Given the description of an element on the screen output the (x, y) to click on. 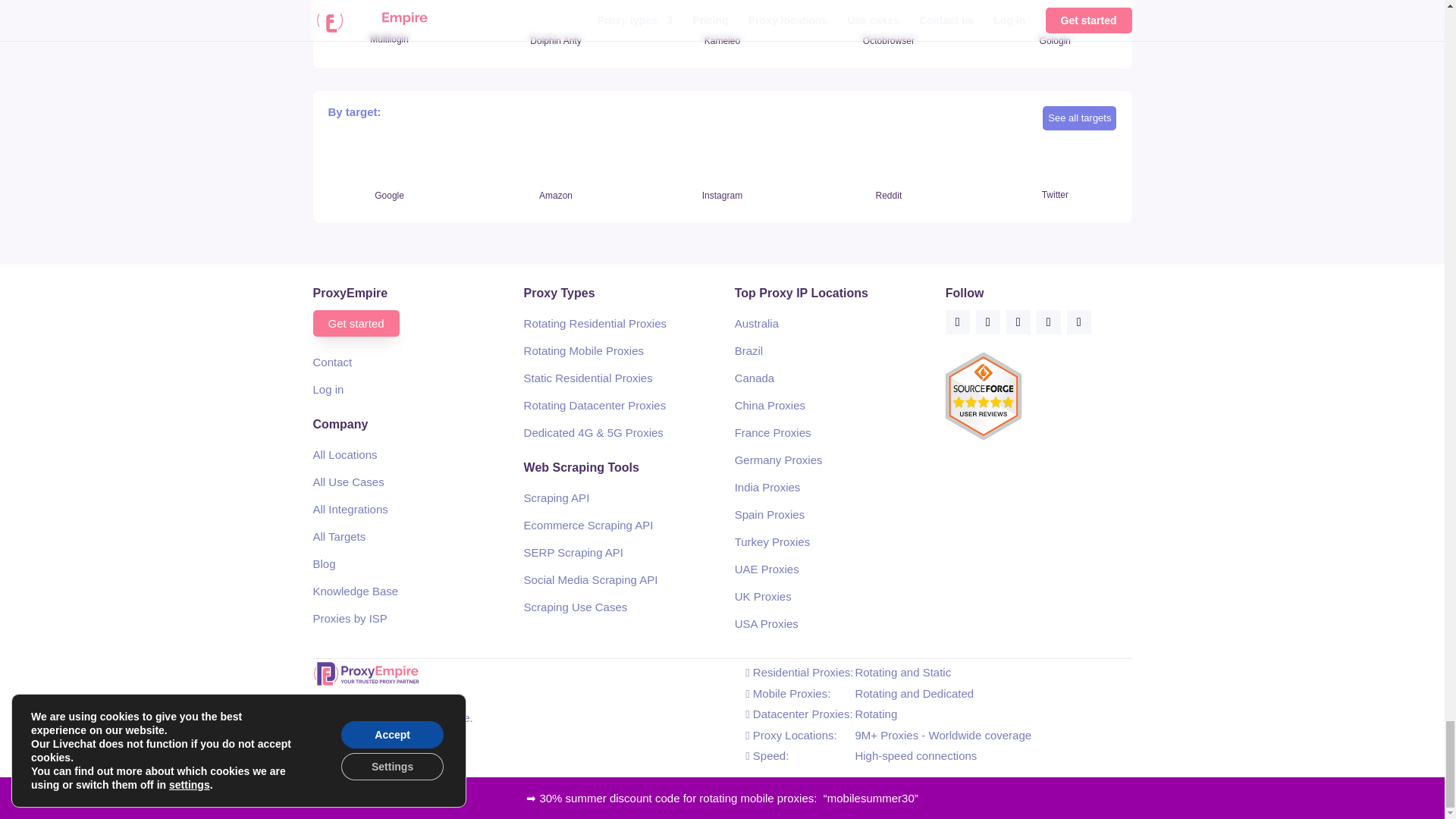
Follow on LinkedIn (1048, 322)
Follow on X (987, 322)
Follow on Instagram (1018, 322)
Follow on Facebook (956, 322)
Follow on Telegram (1078, 322)
logo purple proxyempire-01-01 (366, 673)
